Given the description of an element on the screen output the (x, y) to click on. 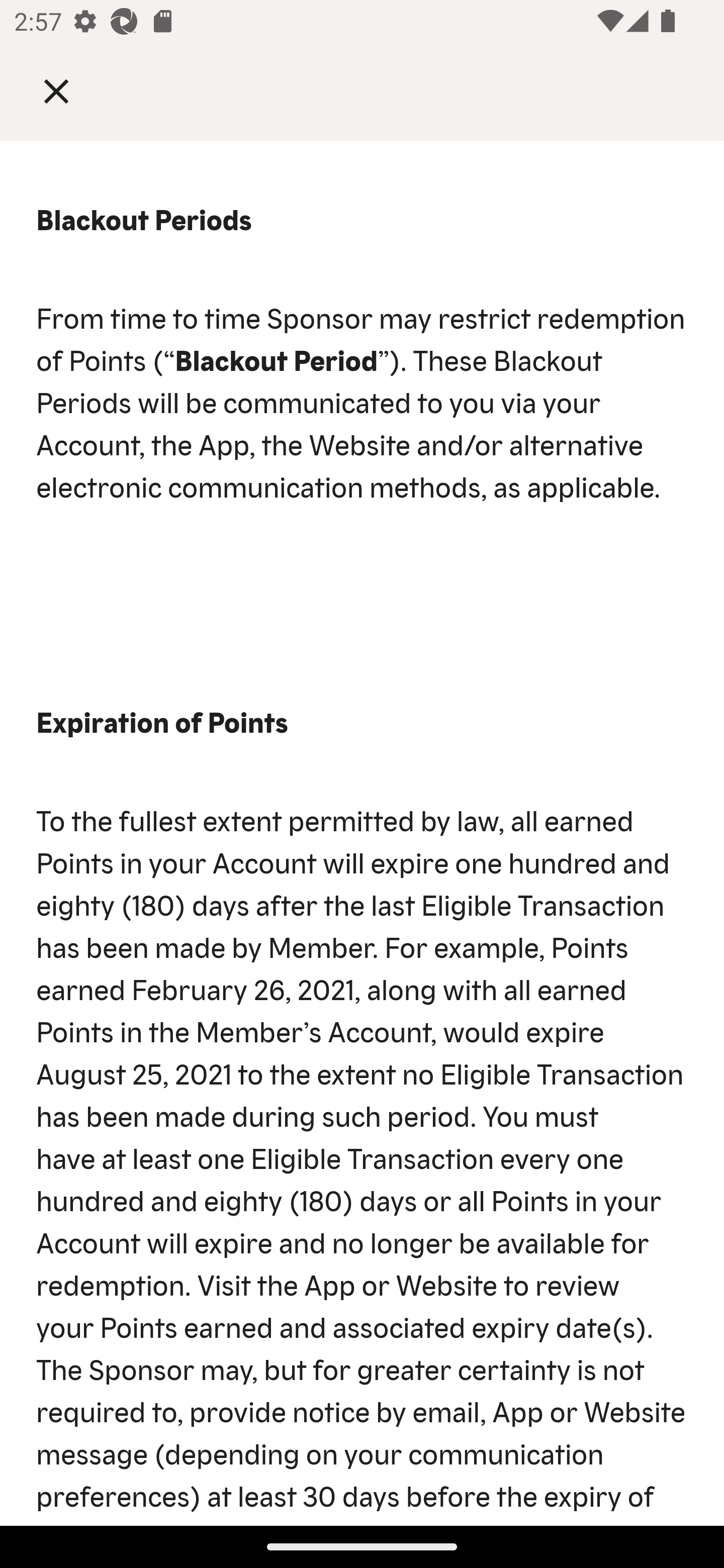
 (70, 90)
